Given the description of an element on the screen output the (x, y) to click on. 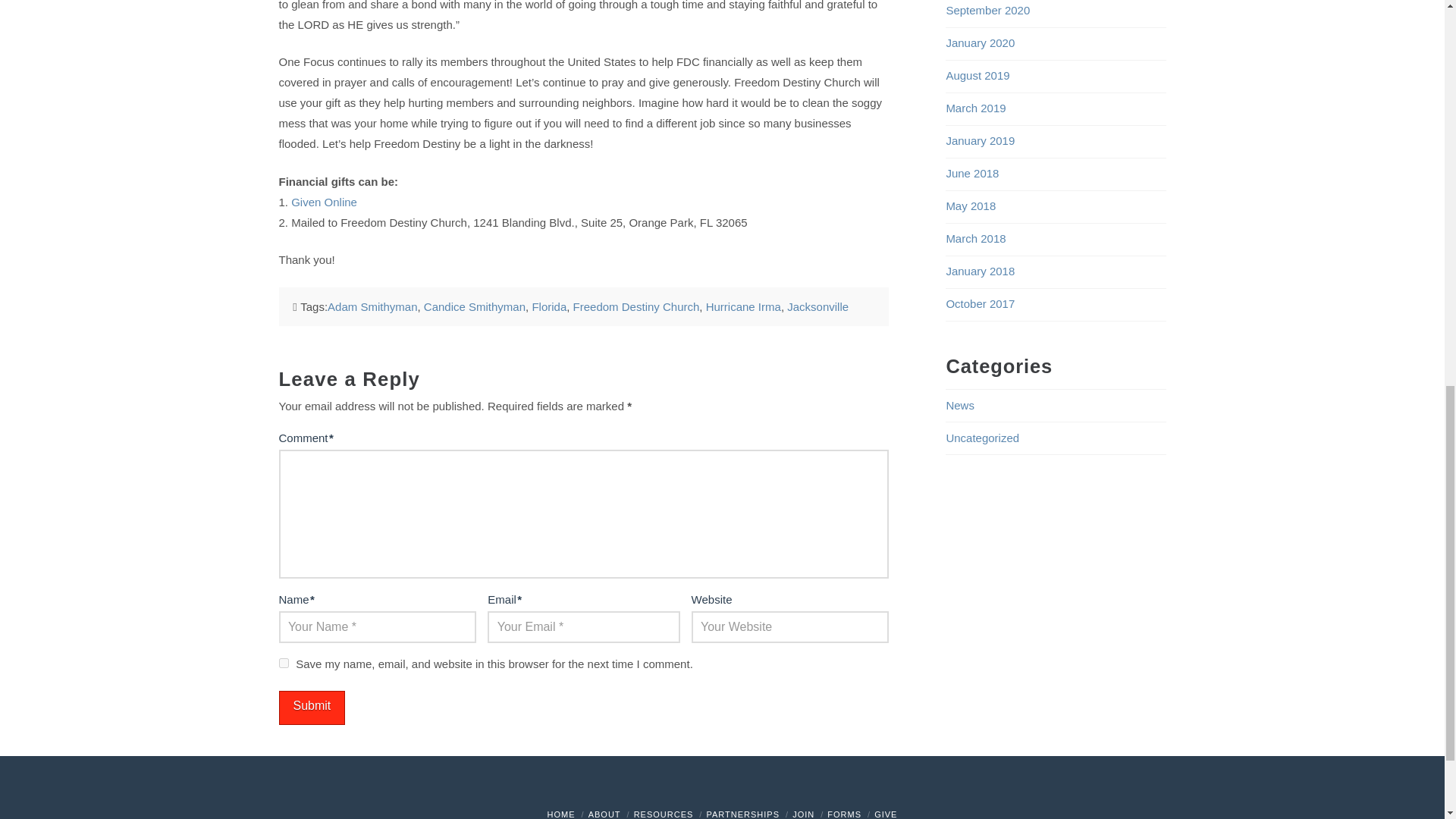
Freedom Destiny Church (636, 306)
March 2018 (975, 237)
Given Online (323, 201)
yes (283, 663)
Jacksonville (817, 306)
ABOUT (604, 814)
Uncategorized (981, 438)
Hurricane Irma (743, 306)
May 2018 (969, 205)
Submit (312, 707)
January 2019 (979, 140)
News (959, 405)
August 2019 (976, 74)
September 2020 (986, 10)
Submit (312, 707)
